Given the description of an element on the screen output the (x, y) to click on. 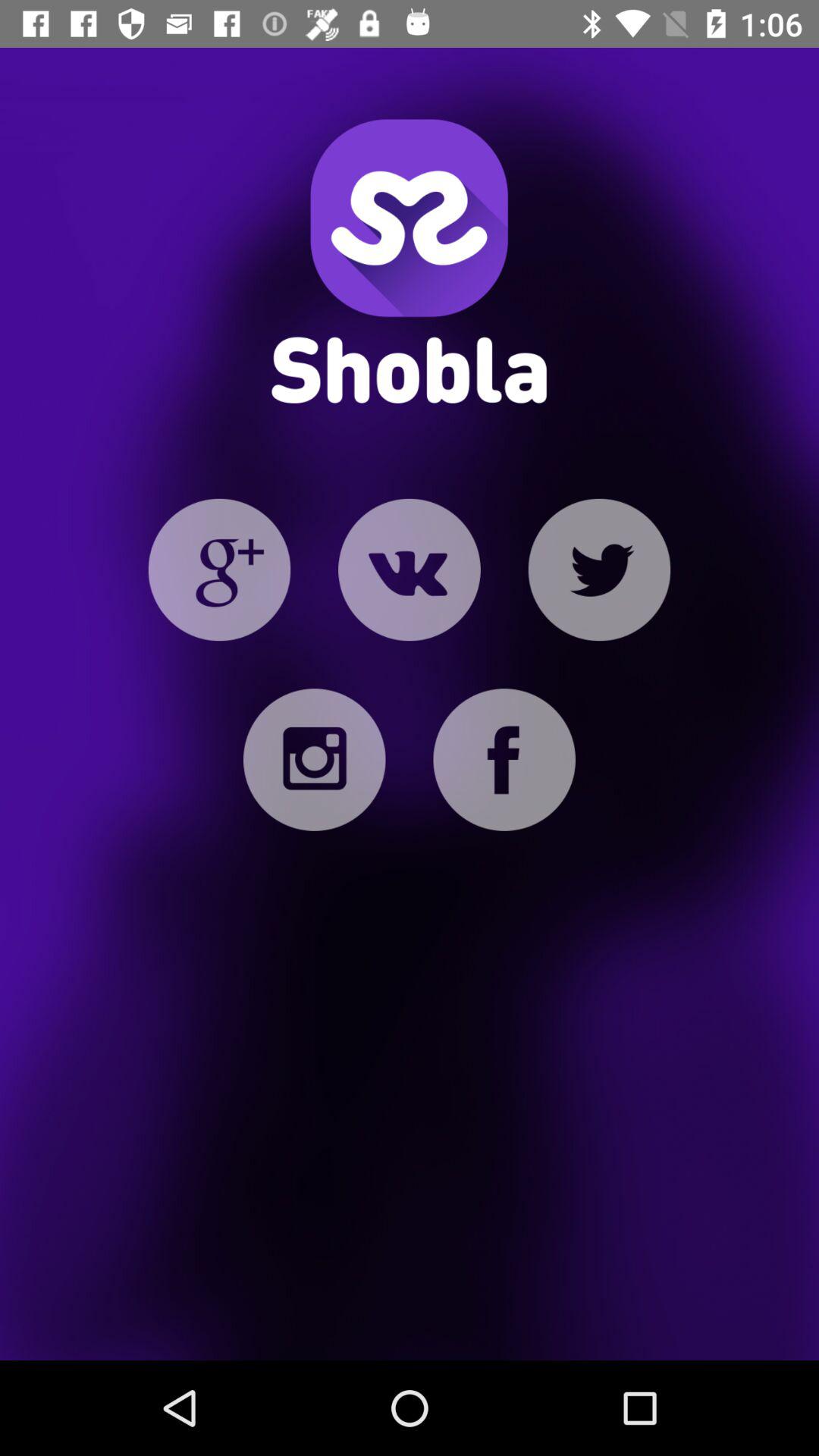
camera (314, 759)
